Given the description of an element on the screen output the (x, y) to click on. 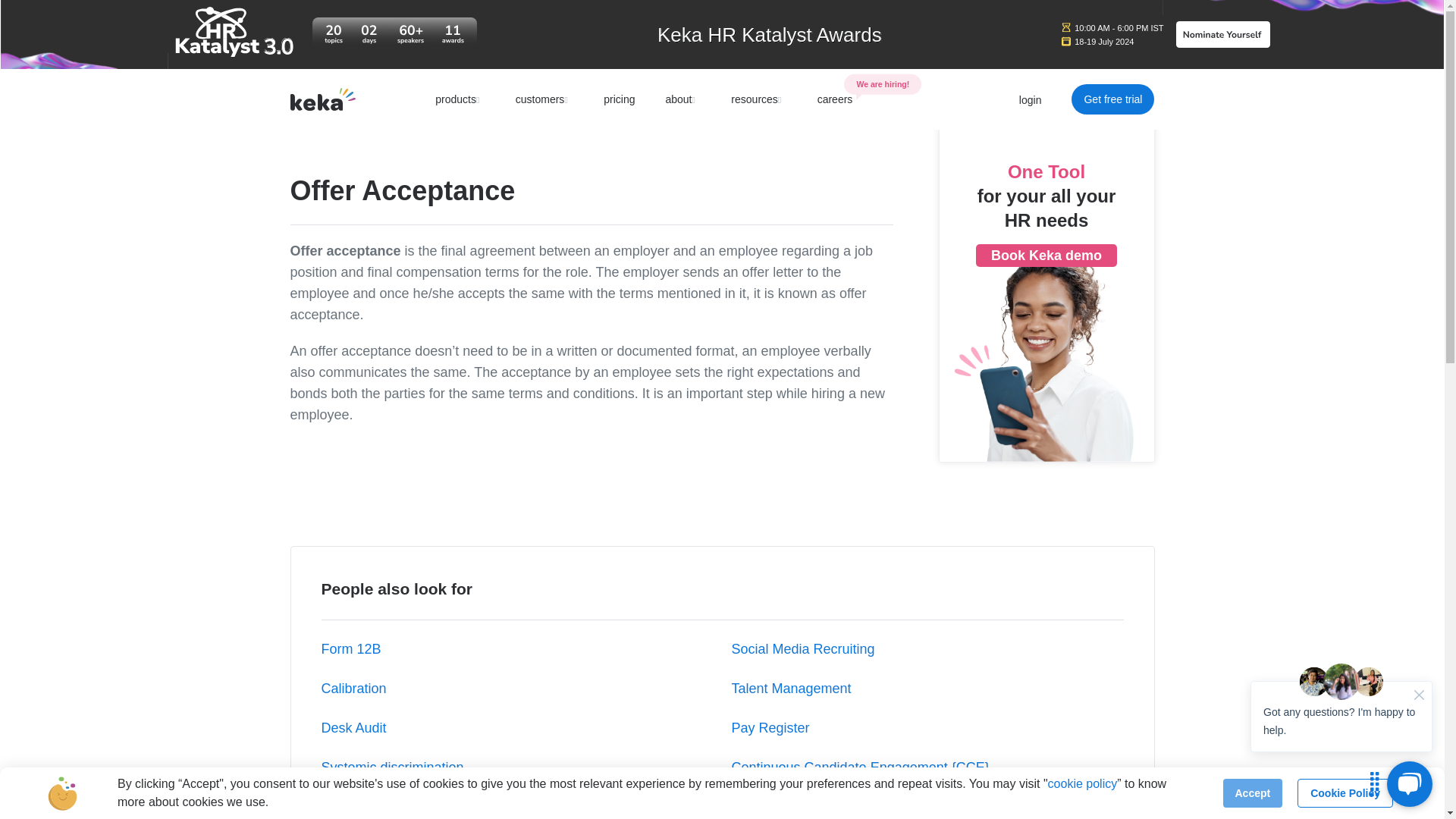
products (459, 99)
customers (544, 99)
about (682, 99)
resources (758, 99)
login (1030, 100)
Glossary (316, 116)
Get free trial (1112, 99)
pricing (619, 99)
